Given the description of an element on the screen output the (x, y) to click on. 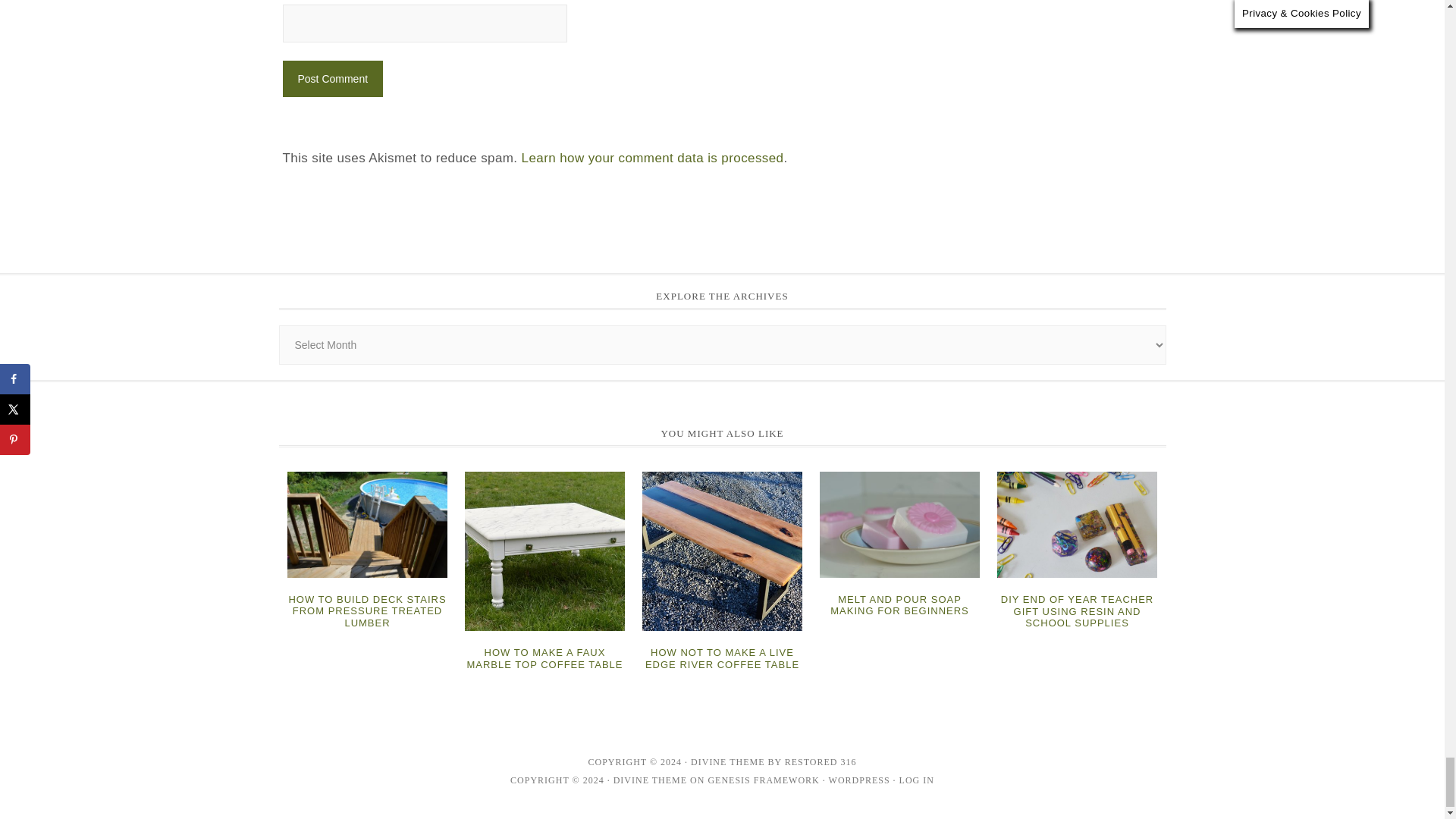
Post Comment (332, 78)
